Given the description of an element on the screen output the (x, y) to click on. 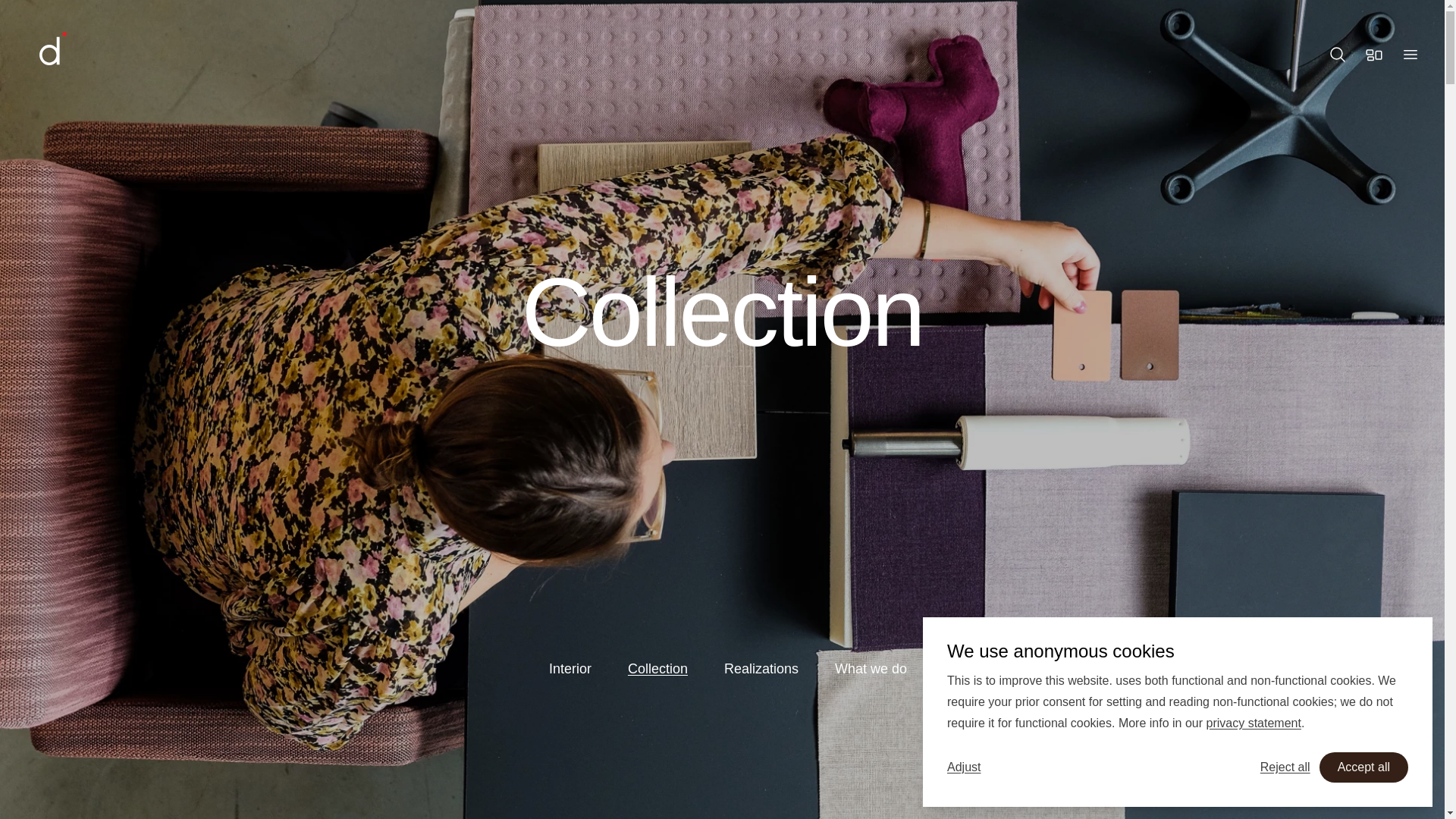
What we do (870, 668)
What we do (870, 668)
Interior (569, 668)
Home (96, 54)
Realizations (760, 668)
Search (1336, 54)
Collection (657, 668)
Realizations (760, 668)
Interior (569, 668)
Collection (657, 668)
